Given the description of an element on the screen output the (x, y) to click on. 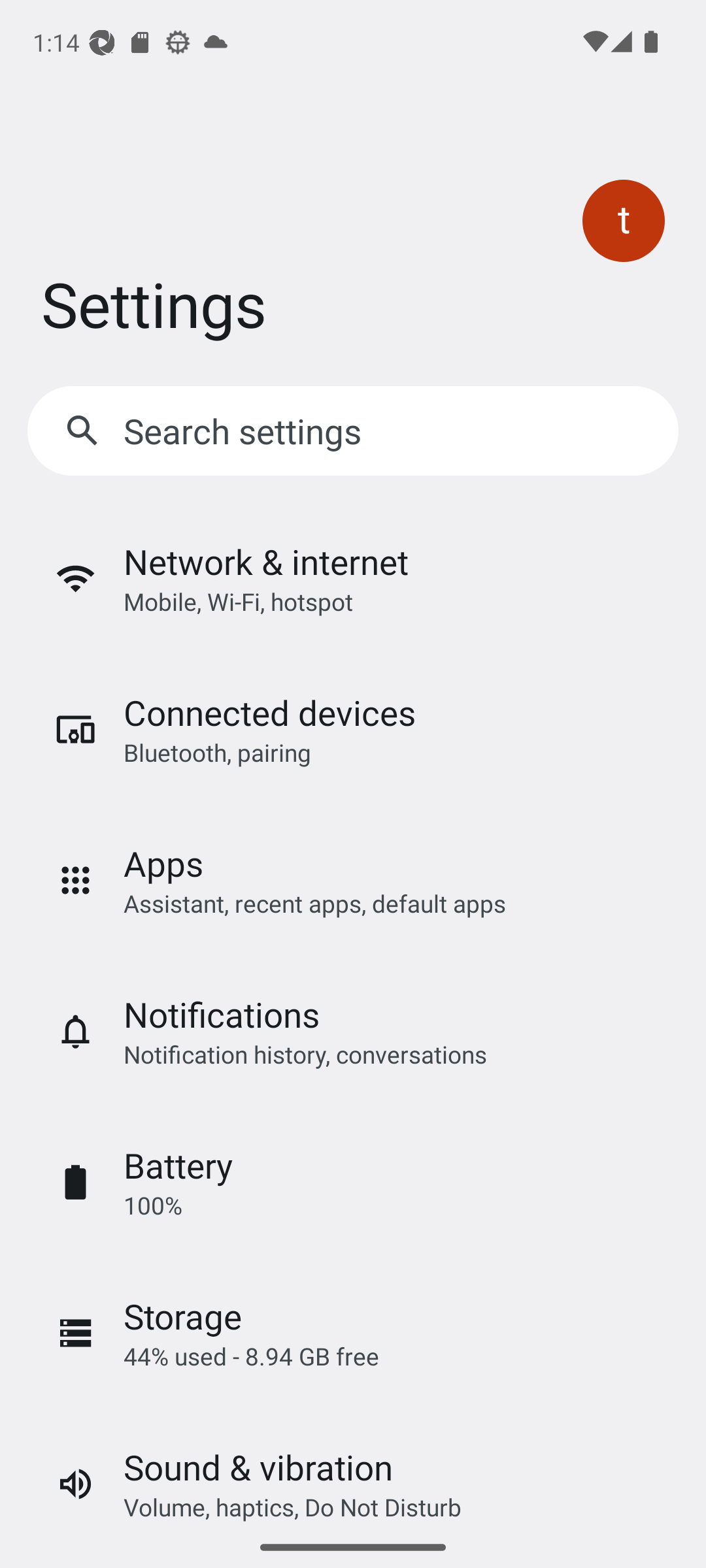
Profile picture, double tap to open Google Account (623, 220)
Search settings (352, 430)
Network & internet Mobile, Wi‑Fi, hotspot (353, 578)
Connected devices Bluetooth, pairing (353, 728)
Apps Assistant, recent apps, default apps (353, 880)
Notifications Notification history, conversations (353, 1031)
Battery 100% (353, 1182)
Storage 44% used - 8.94 GB free (353, 1332)
Sound & vibration Volume, haptics, Do Not Disturb (353, 1467)
